Given the description of an element on the screen output the (x, y) to click on. 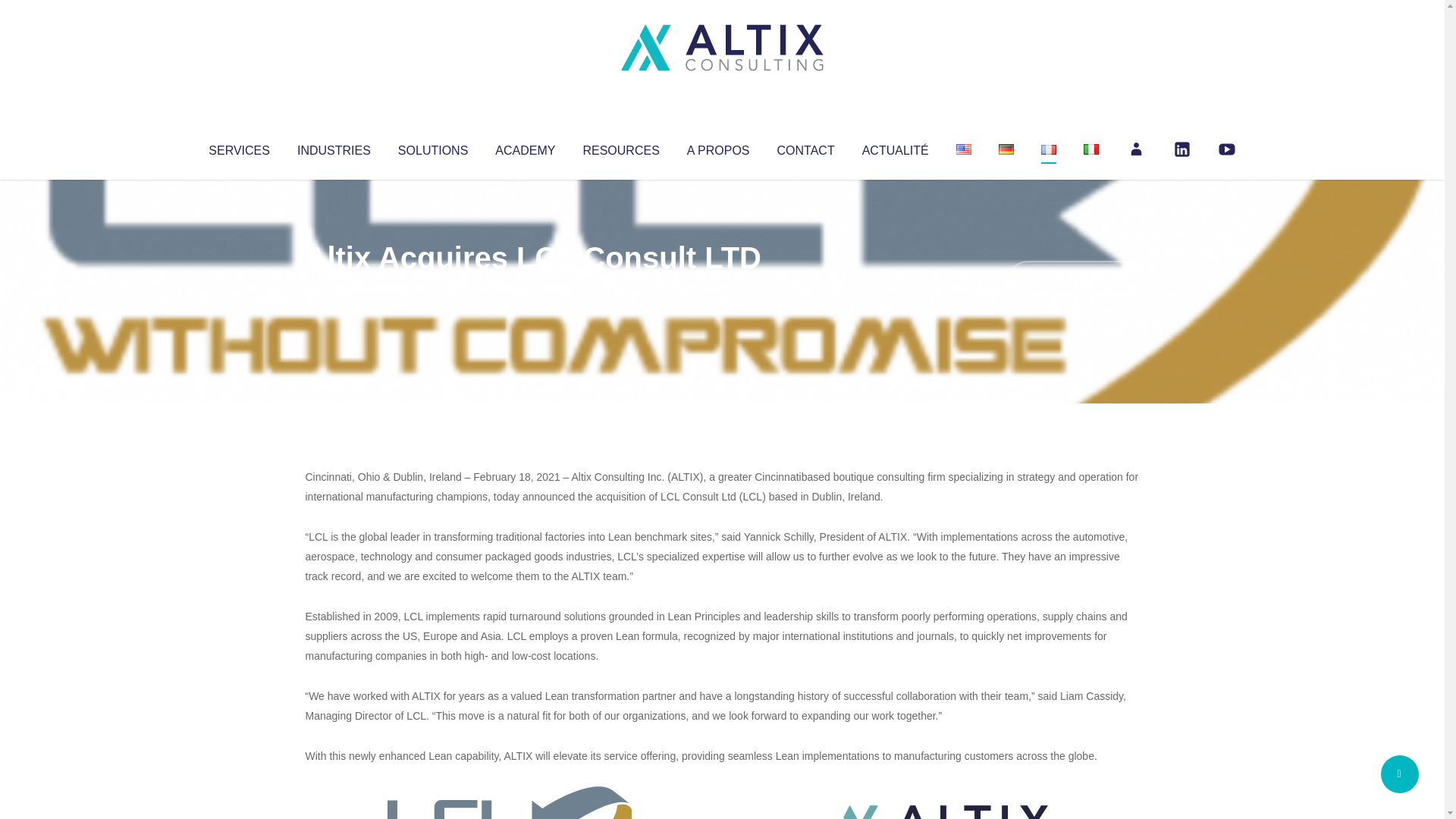
ACADEMY (524, 146)
RESOURCES (620, 146)
Uncategorized (530, 287)
A PROPOS (718, 146)
SERVICES (238, 146)
SOLUTIONS (432, 146)
Altix (333, 287)
No Comments (1073, 278)
Articles par Altix (333, 287)
INDUSTRIES (334, 146)
